Given the description of an element on the screen output the (x, y) to click on. 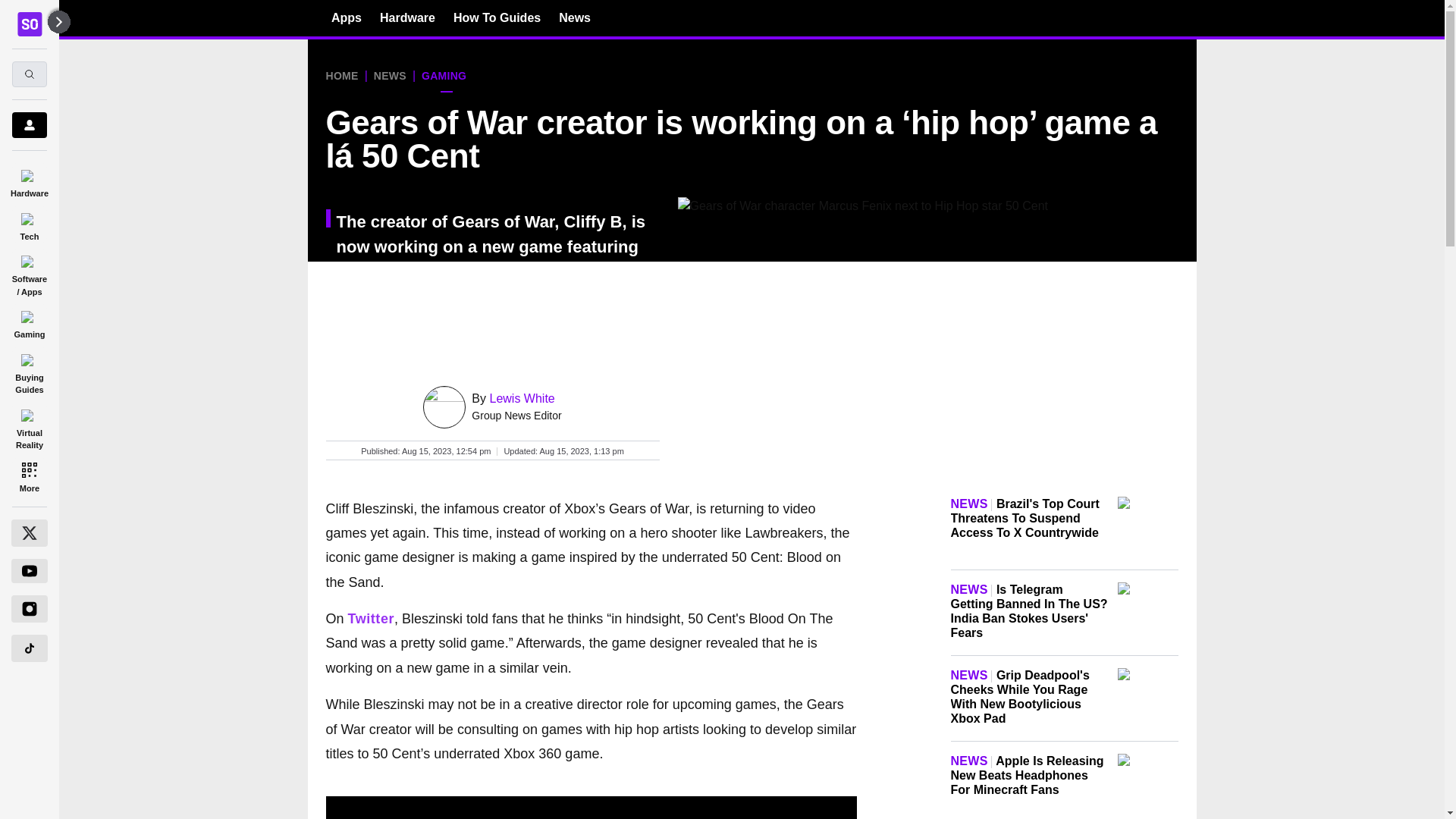
Tech (28, 224)
Hardware (407, 18)
Hardware (28, 180)
Gaming (28, 322)
More (28, 476)
Apps (346, 18)
How To Guides (496, 18)
News (575, 18)
